Given the description of an element on the screen output the (x, y) to click on. 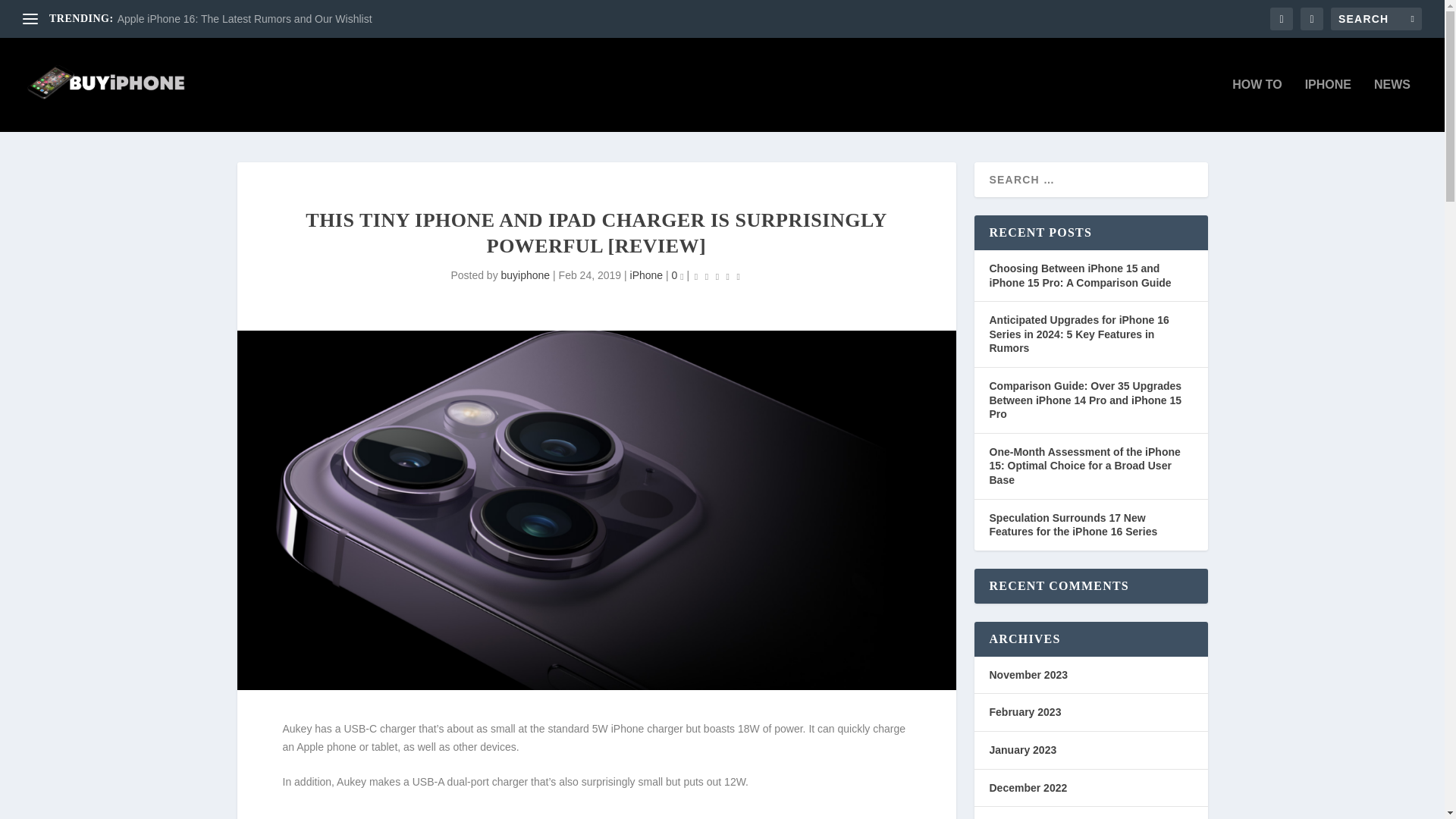
iPhone (646, 275)
Posts by buyiphone (525, 275)
buyiphone (525, 275)
0 (677, 275)
Apple iPhone 16: The Latest Rumors and Our Wishlist (244, 19)
HOW TO (1256, 104)
Search for: (1376, 18)
Rating: 0.00 (717, 275)
Advertisement (596, 814)
